Given the description of an element on the screen output the (x, y) to click on. 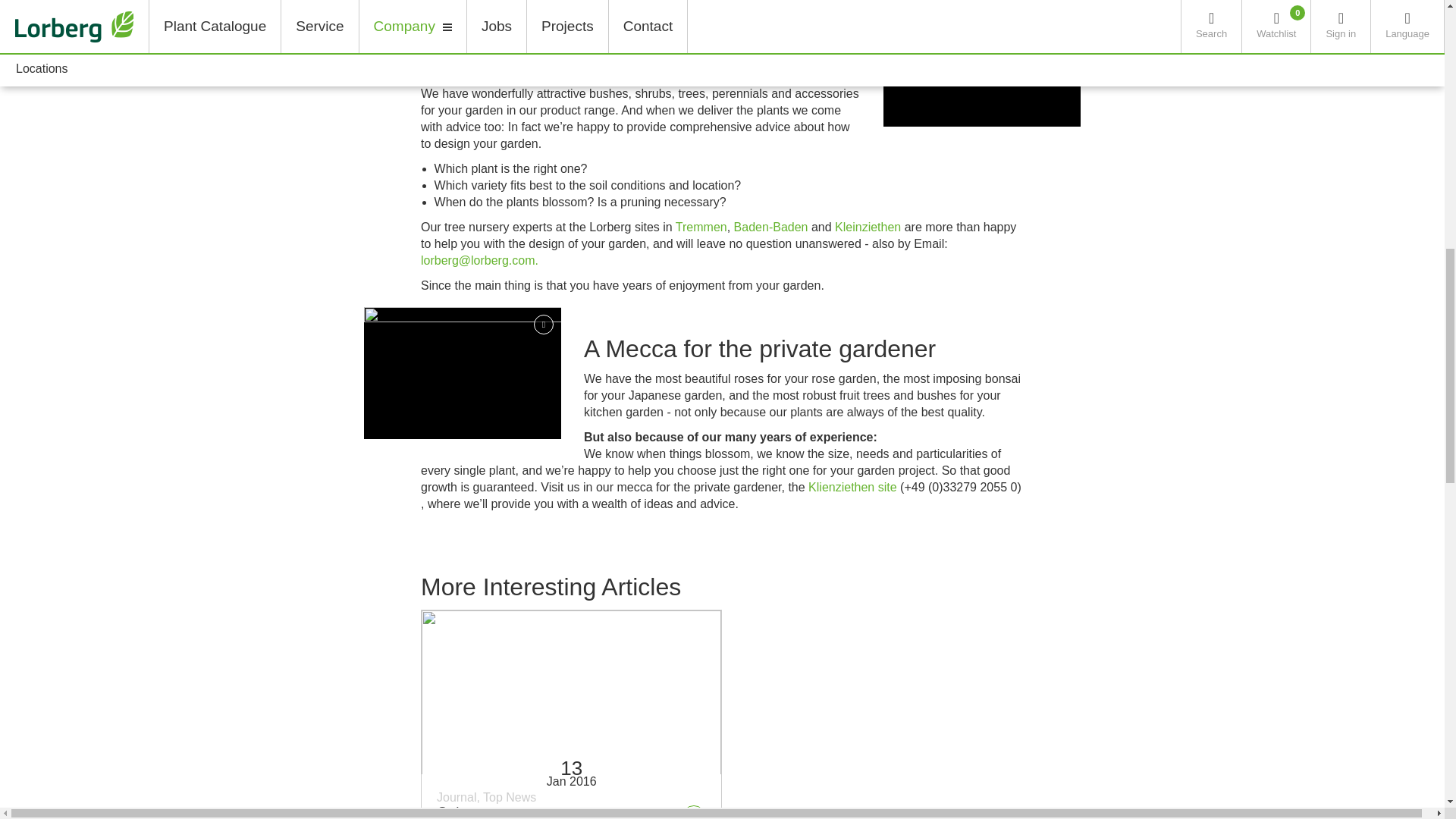
Baden-Baden (770, 226)
Kleinziethen (867, 226)
Tremmen (700, 226)
